Given the description of an element on the screen output the (x, y) to click on. 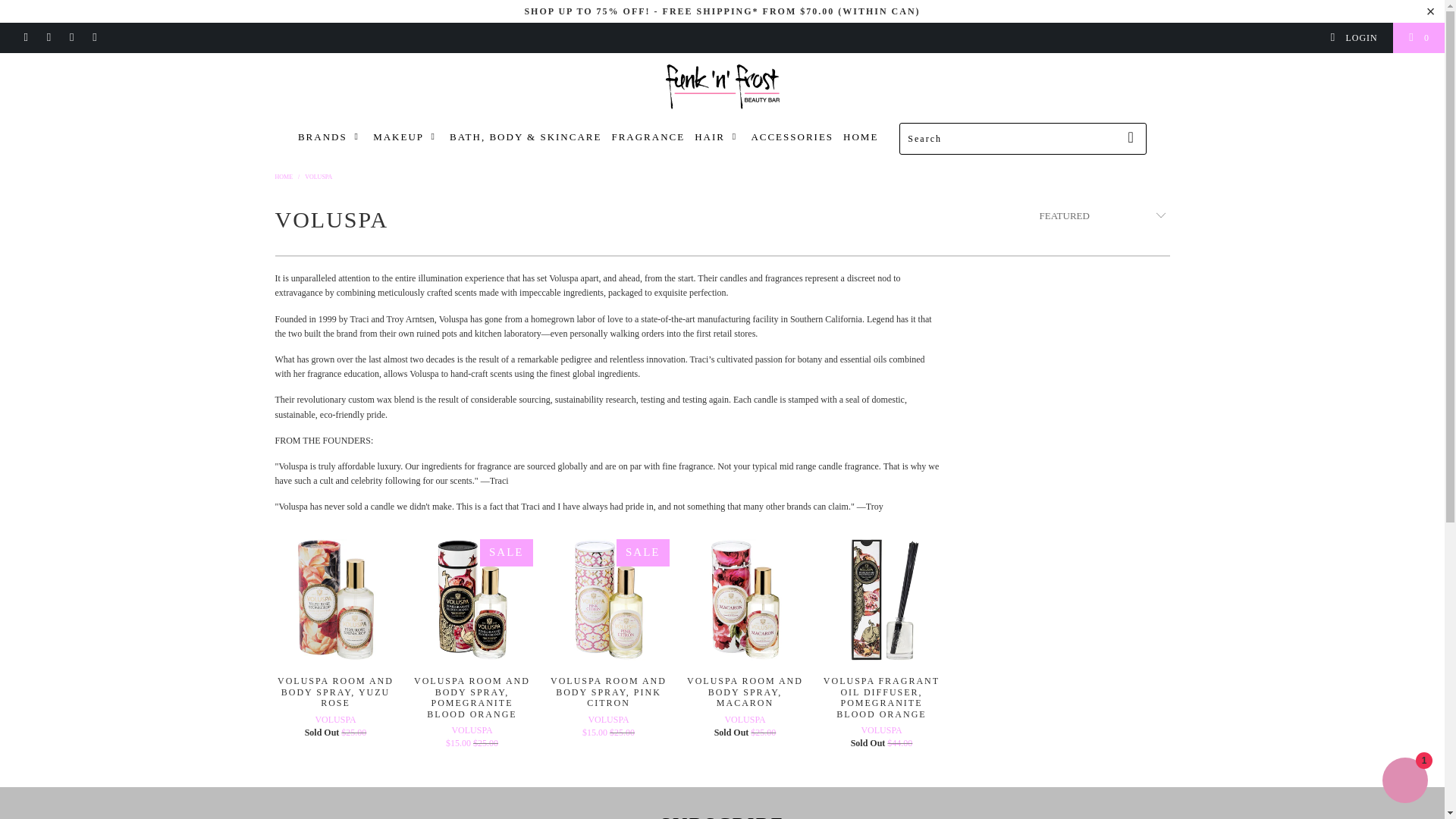
www.funknfrost.com on Pinterest (48, 37)
www.funknfrost.com on Instagram (71, 37)
www.funknfrost.com on Twitter (25, 37)
www.funknfrost.com (283, 176)
My Account  (1352, 37)
Email www.funknfrost.com (93, 37)
VOLUSPA (317, 176)
